Given the description of an element on the screen output the (x, y) to click on. 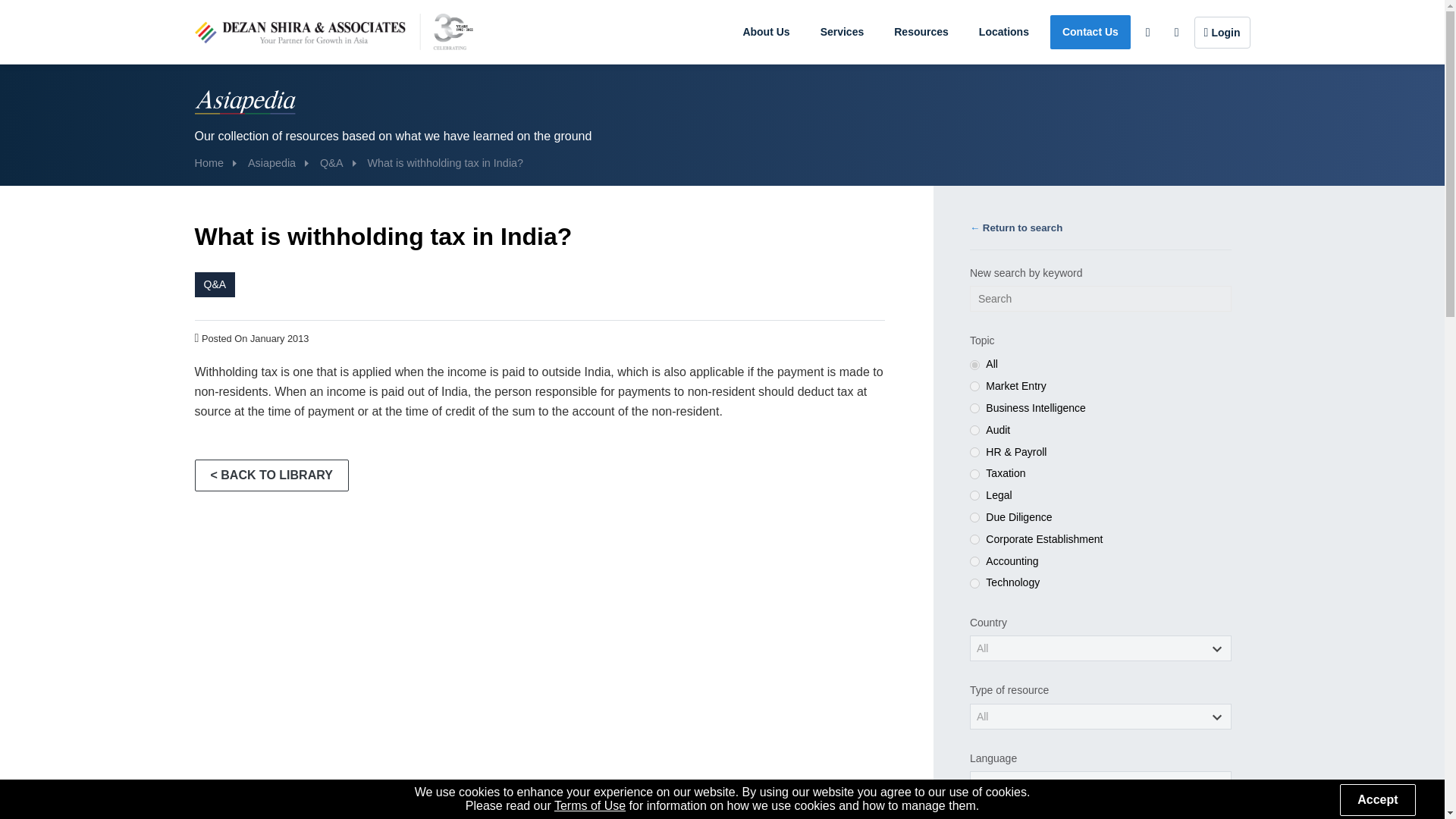
259 (974, 517)
321 (974, 583)
Services (842, 32)
About Us (765, 32)
201 (974, 429)
294 (974, 561)
245 (974, 474)
264 (974, 539)
168 (974, 408)
211 (974, 452)
